Given the description of an element on the screen output the (x, y) to click on. 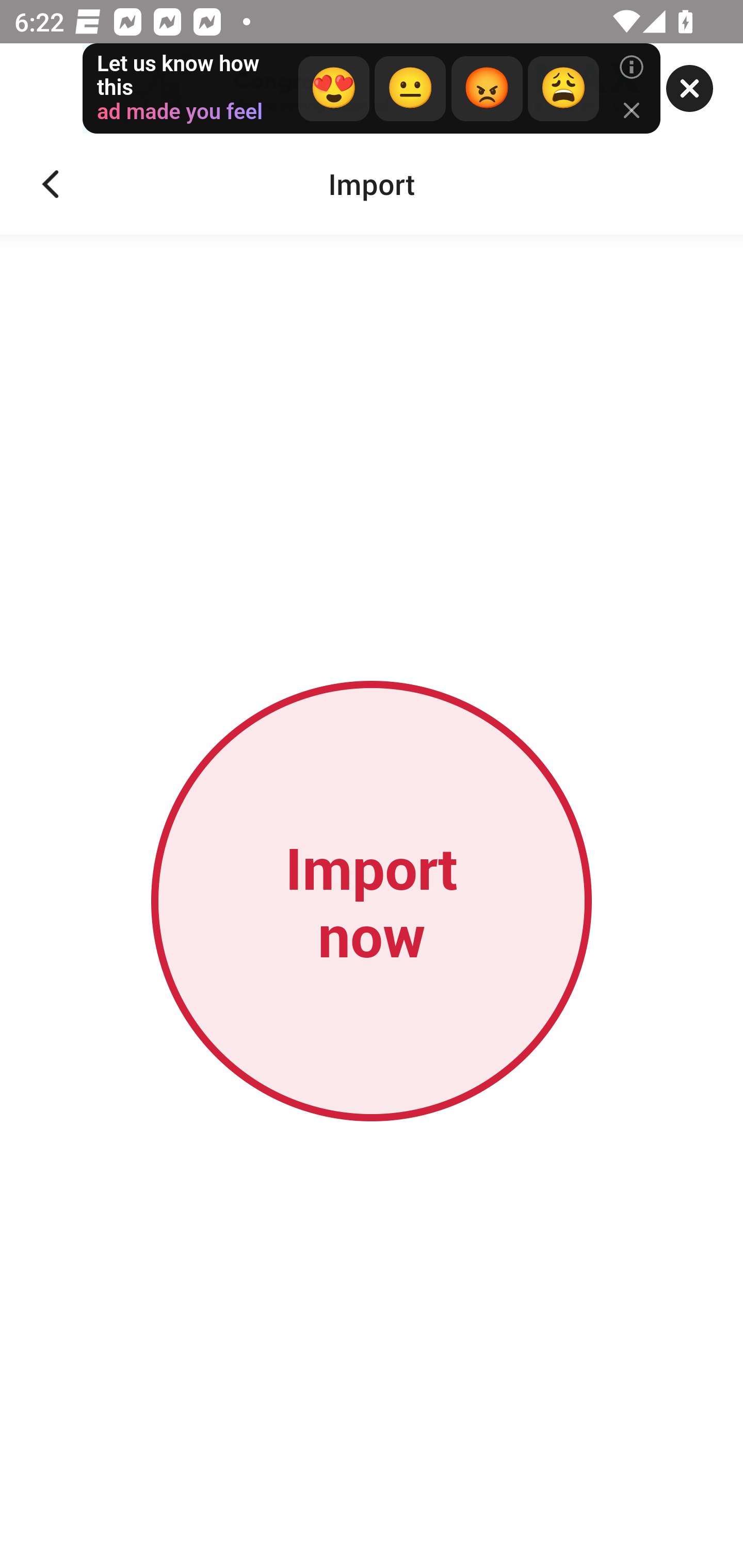
app-monetization (371, 88)
😍 (333, 88)
😐 (409, 88)
😡 (487, 88)
😩 (562, 88)
Navigate up (50, 184)
